Given the description of an element on the screen output the (x, y) to click on. 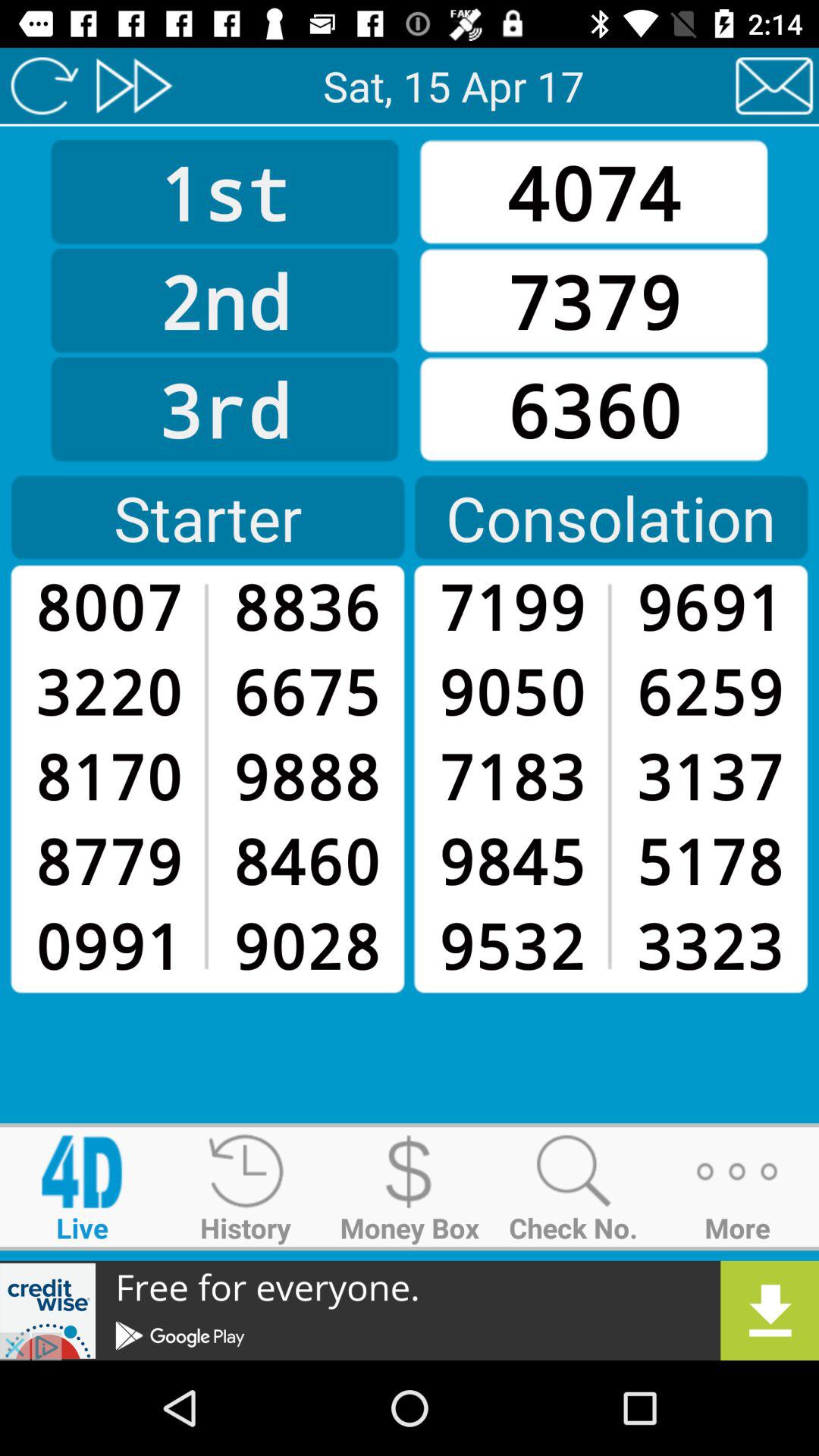
fast forward (133, 85)
